Given the description of an element on the screen output the (x, y) to click on. 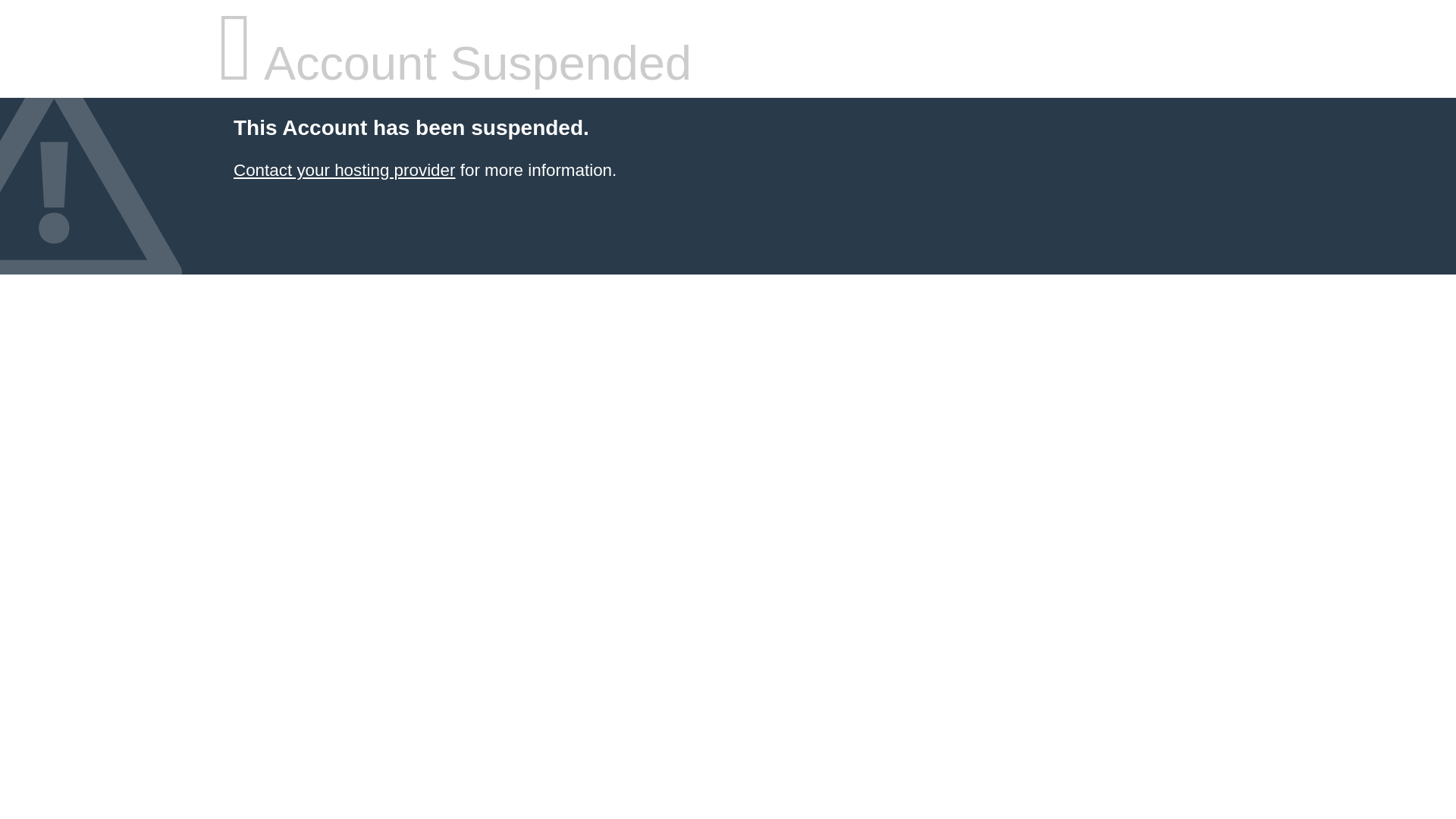
Contact your hosting provider (343, 169)
AJB BELL Limited (343, 169)
